Given the description of an element on the screen output the (x, y) to click on. 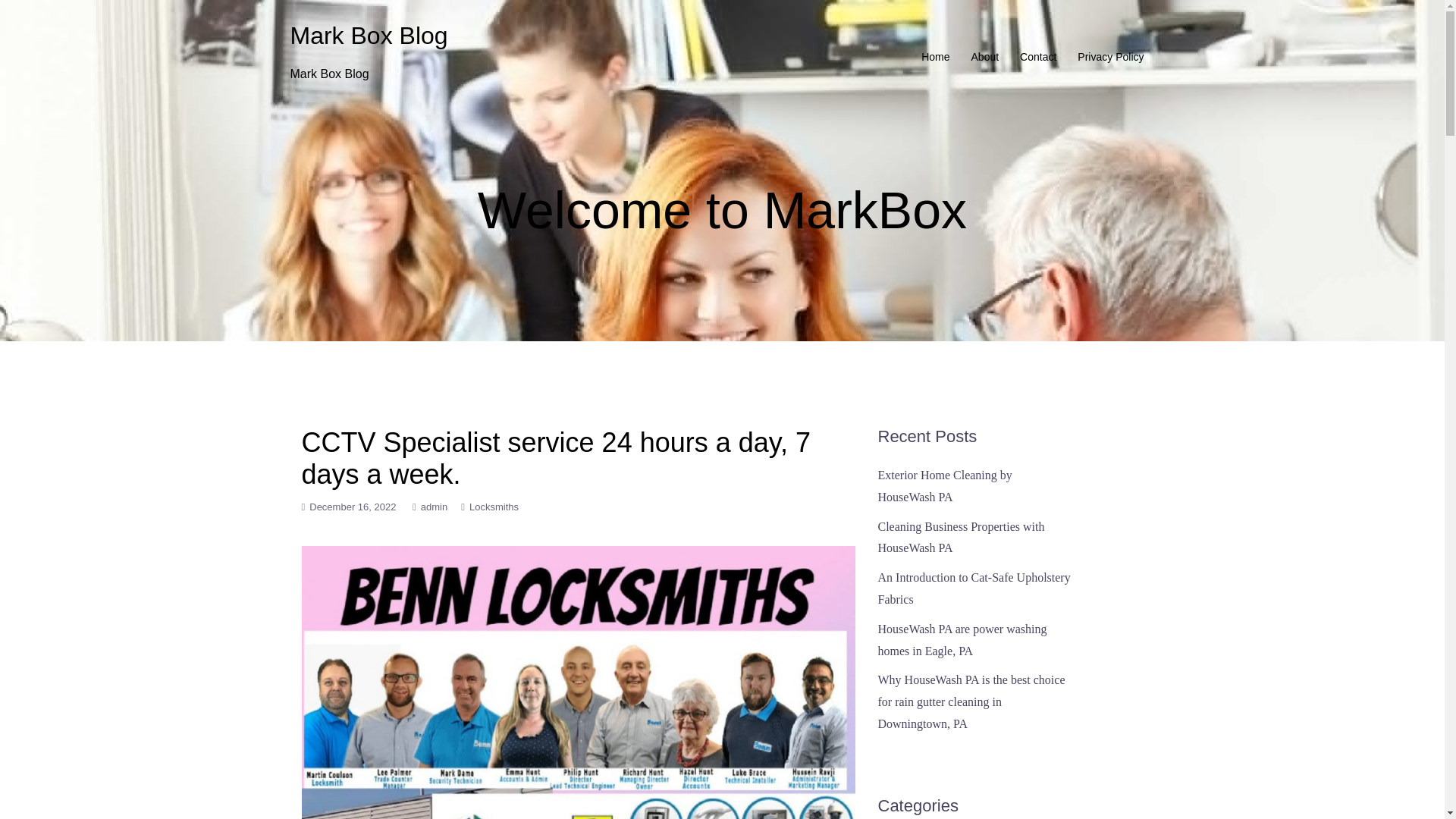
December 16, 2022 (352, 506)
Exterior Home Cleaning by HouseWash PA (944, 485)
Locksmiths (493, 506)
An Introduction to Cat-Safe Upholstery Fabrics (973, 588)
Cleaning Business Properties with HouseWash PA (961, 537)
Home (935, 56)
HouseWash PA are power washing homes in Eagle, PA (961, 639)
About (984, 56)
Mark Box Blog (367, 35)
